Given the description of an element on the screen output the (x, y) to click on. 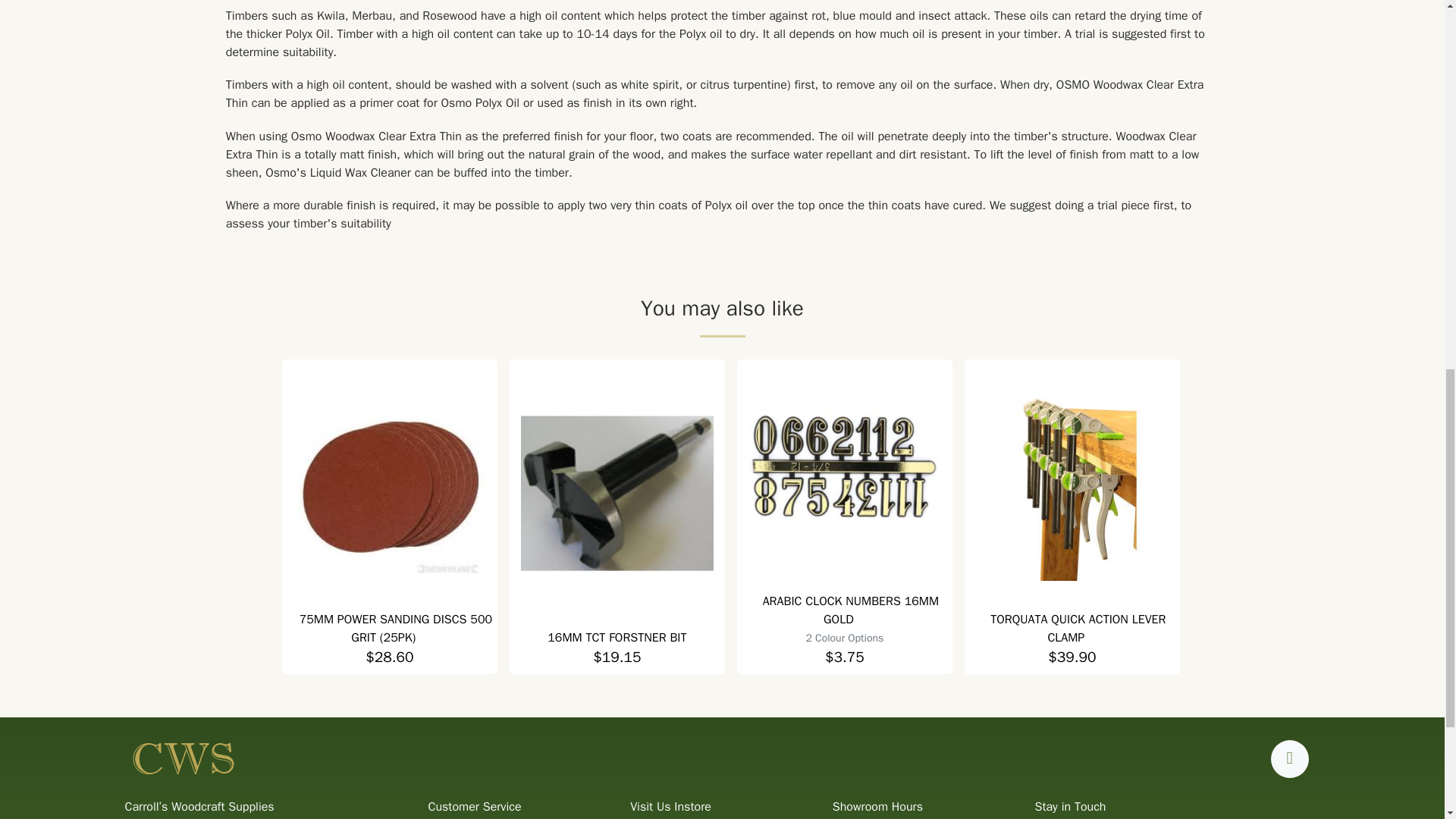
Torquata  Quick Action Lever Clamp (1078, 628)
facebook (1289, 759)
16mm TCT Forstner bit (616, 637)
Arabic Clock Numbers 16mm Gold (850, 610)
16mm TCT Forstner bit (617, 493)
Arabic Clock Numbers 16mm Gold (844, 475)
Torquata  Quick Action Lever Clamp (1072, 484)
